Given the description of an element on the screen output the (x, y) to click on. 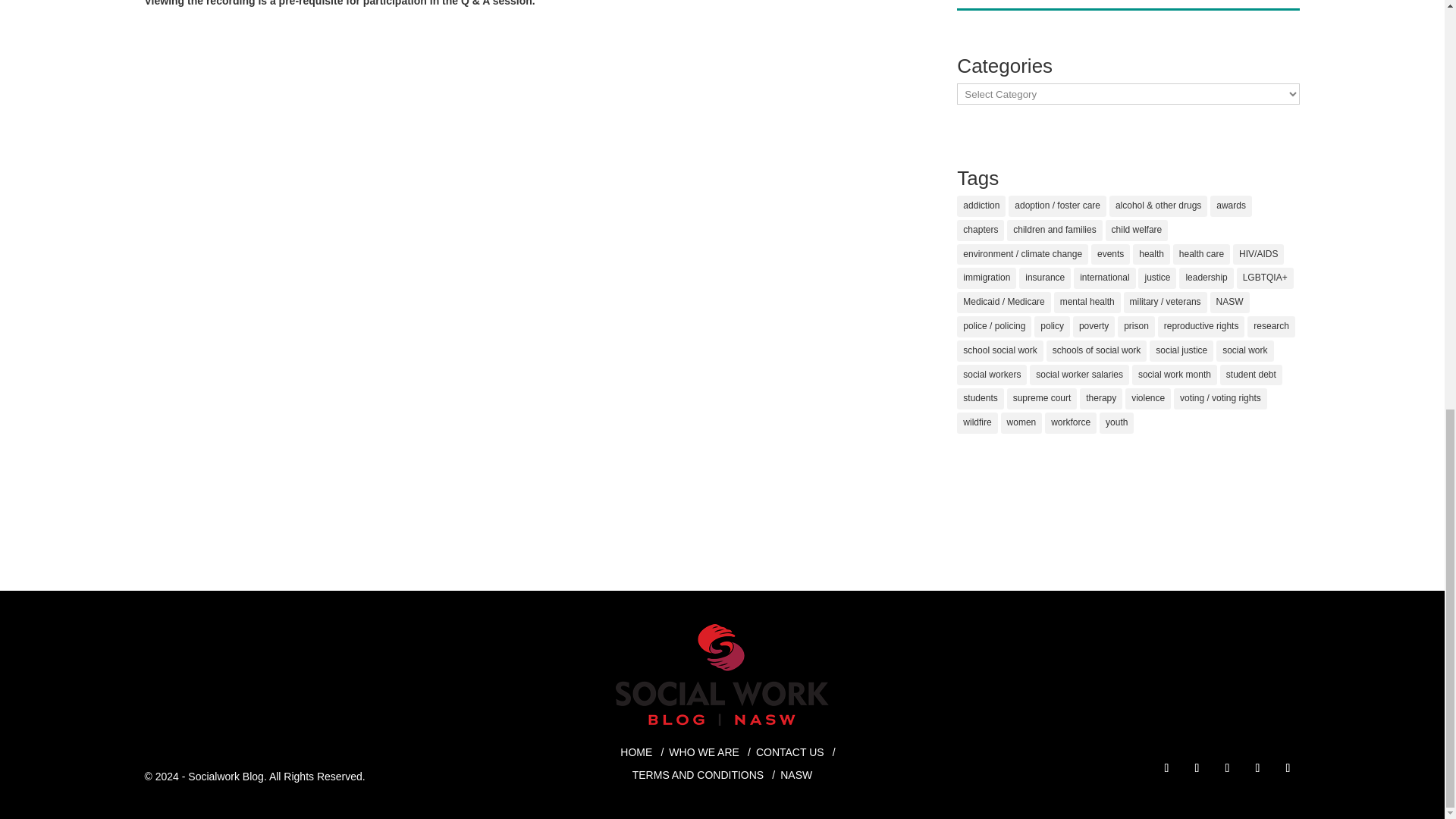
Follow on X (1256, 767)
Follow on Youtube (1287, 767)
chapters (980, 230)
child welfare (1137, 230)
addiction (981, 206)
awards (1230, 206)
Follow on Instagram (1196, 767)
Follow on LinkedIn (1226, 767)
events (1109, 254)
Follow on Facebook (1165, 767)
